Given the description of an element on the screen output the (x, y) to click on. 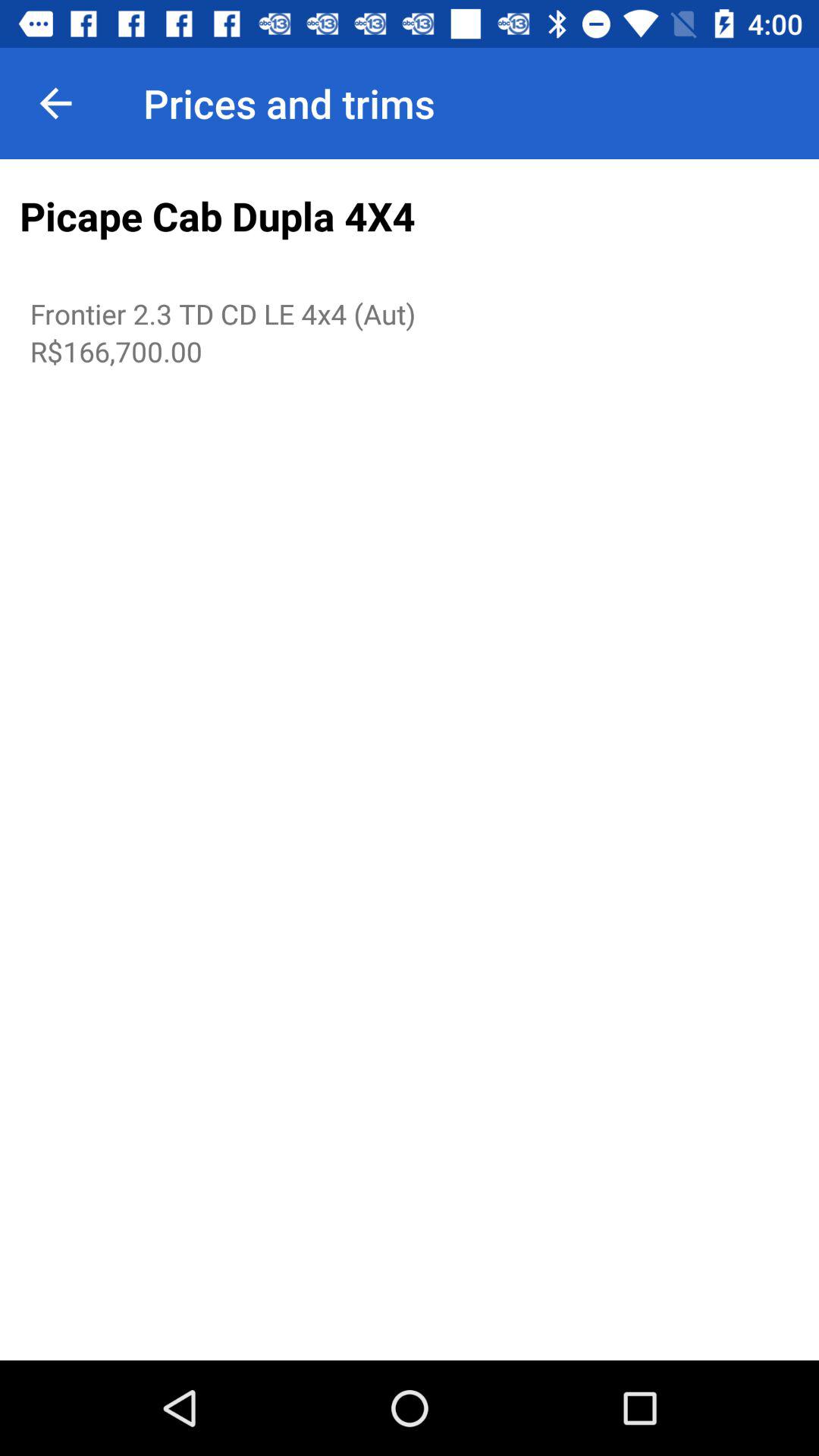
swipe until the picape cab dupla icon (409, 217)
